Given the description of an element on the screen output the (x, y) to click on. 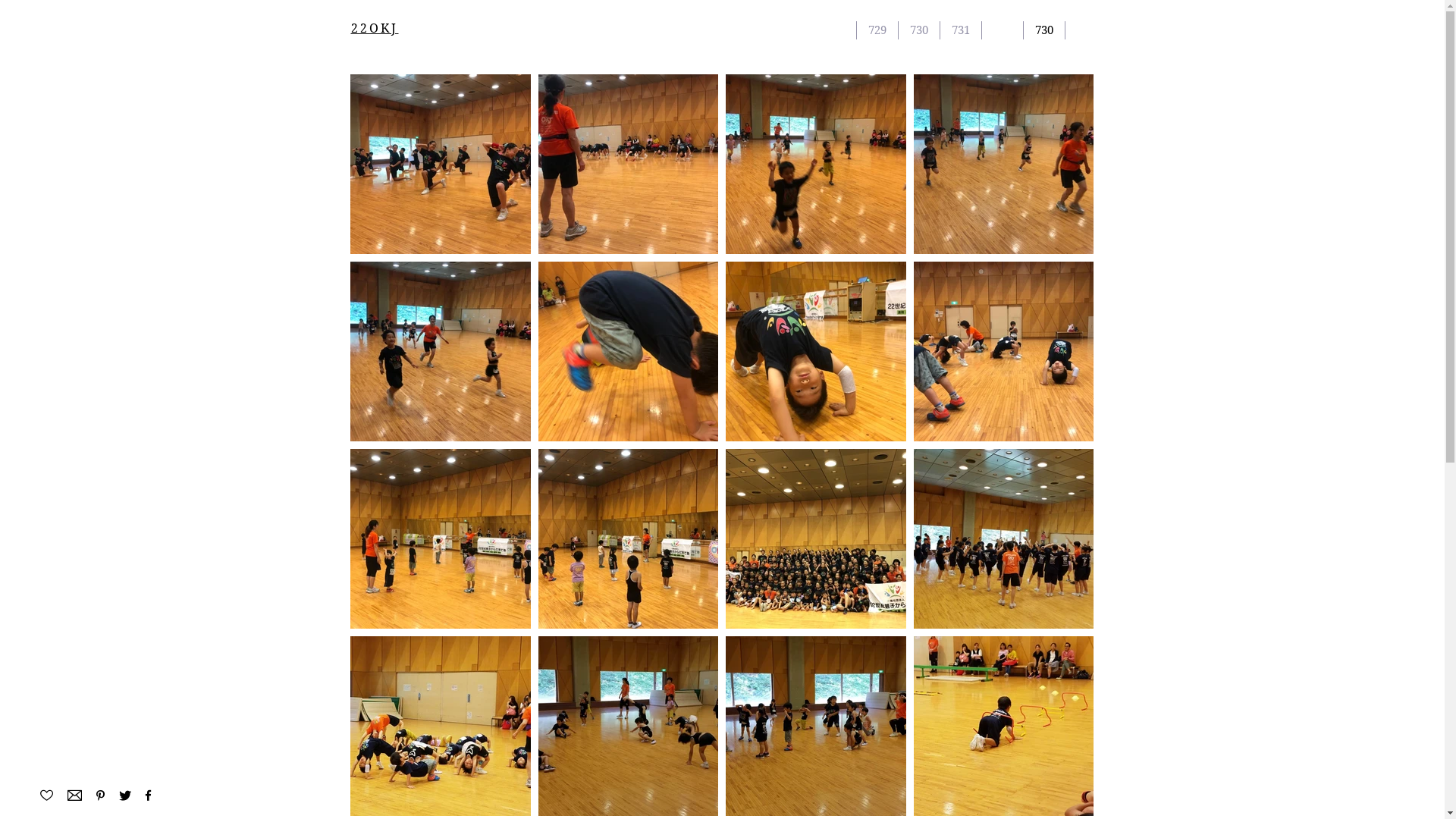
Embedded Content Element type: hover (120, 792)
Embedded Content Element type: hover (437, 146)
Embedded Content Element type: hover (1006, 146)
22OKJ Element type: text (374, 28)
